Given the description of an element on the screen output the (x, y) to click on. 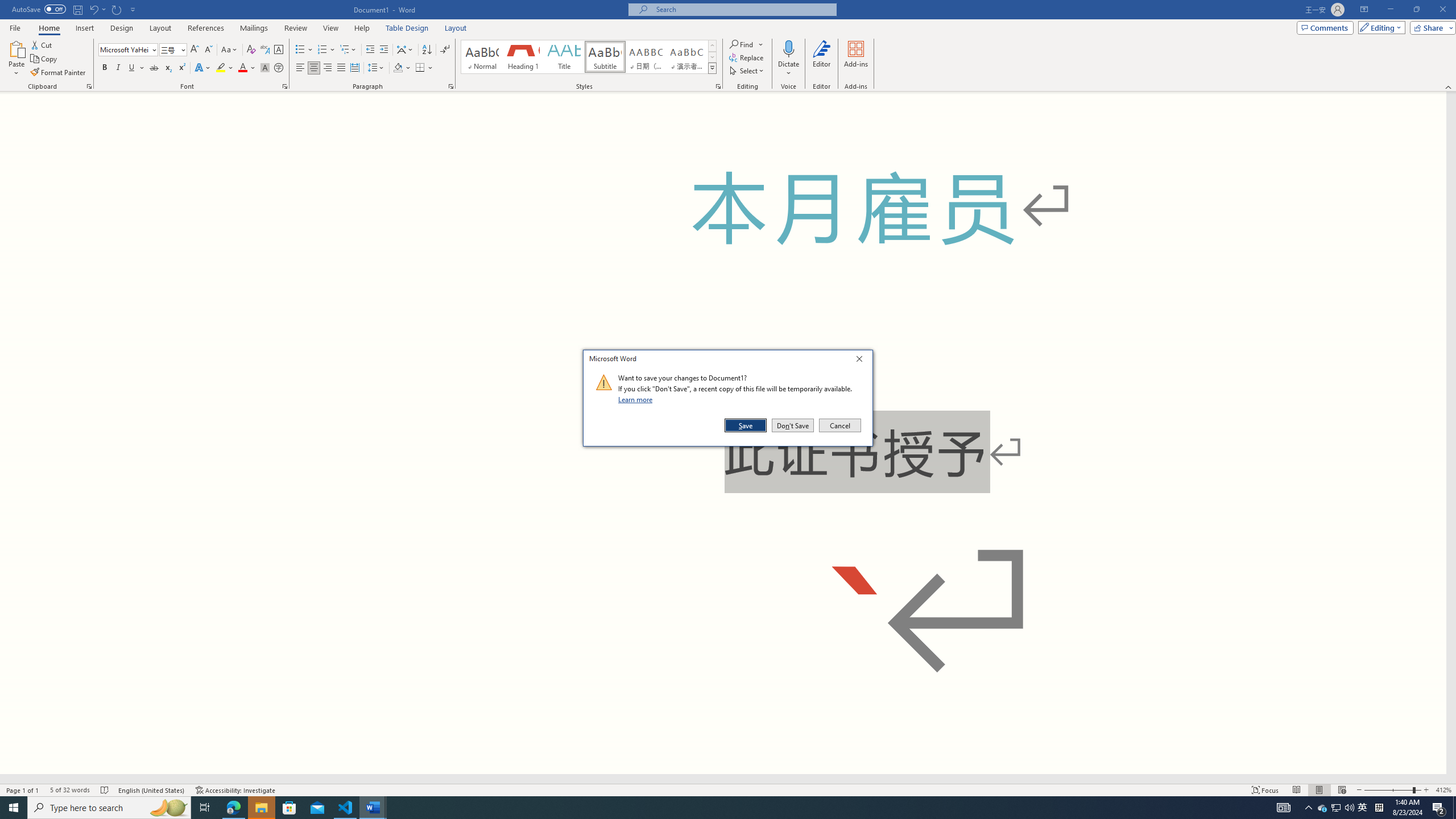
User Promoted Notification Area (1336, 807)
Accessibility Checker Accessibility: Investigate (235, 790)
Running applications (700, 807)
AutomationID: 4105 (1283, 807)
Character Border (278, 49)
Text Highlight Color Yellow (220, 67)
Styles (711, 67)
File Explorer - 1 running window (261, 807)
Character Shading (264, 67)
